Given the description of an element on the screen output the (x, y) to click on. 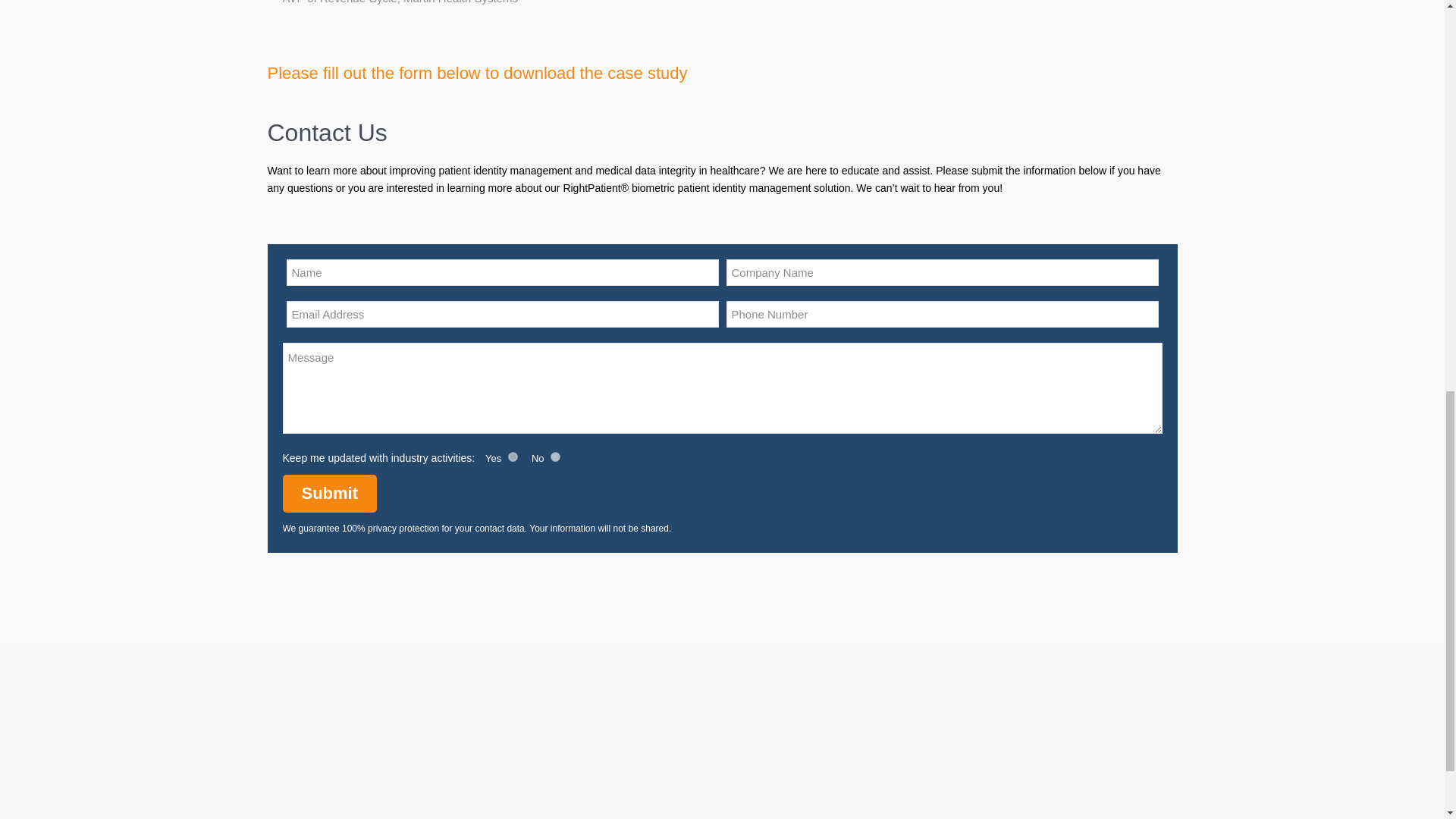
Submit (329, 493)
Yes (513, 456)
No (555, 456)
Submit (329, 493)
